Given the description of an element on the screen output the (x, y) to click on. 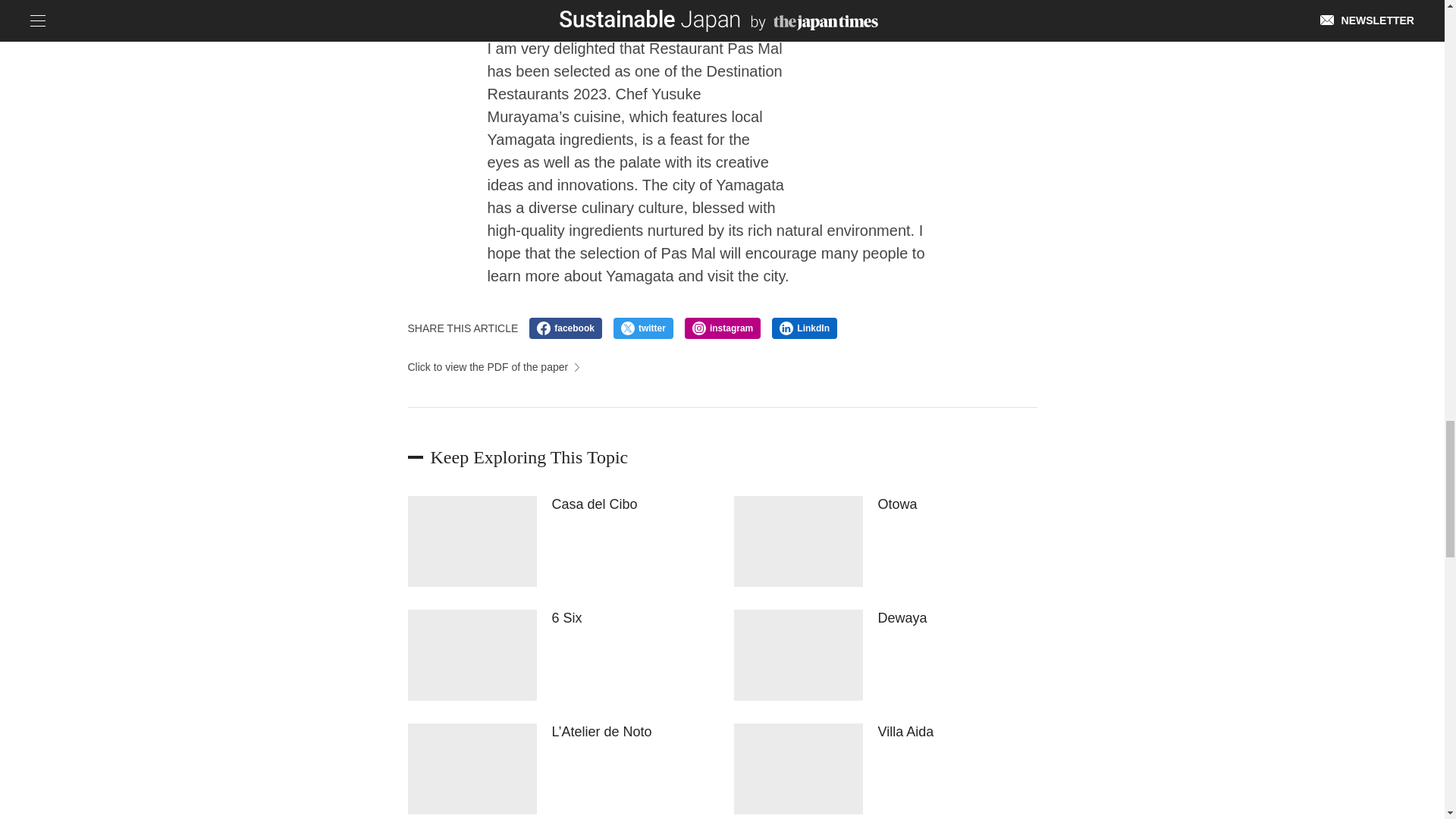
Casa del Cibo (559, 541)
Dewaya (884, 655)
Villa Aida (884, 768)
6 Six (559, 655)
Otowa (884, 541)
